Given the description of an element on the screen output the (x, y) to click on. 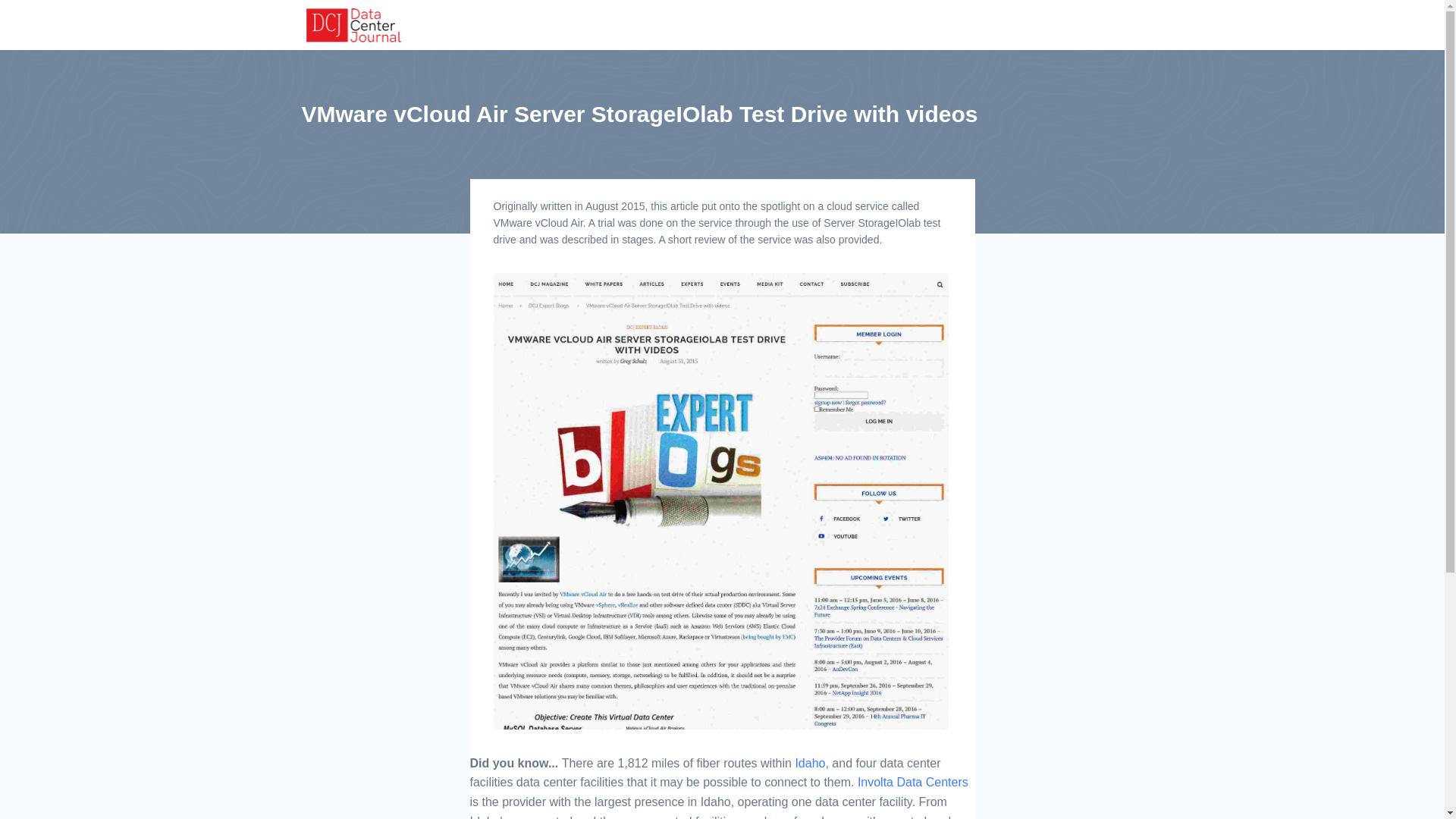
Idaho (809, 762)
Involta Data Centers (912, 781)
